Given the description of an element on the screen output the (x, y) to click on. 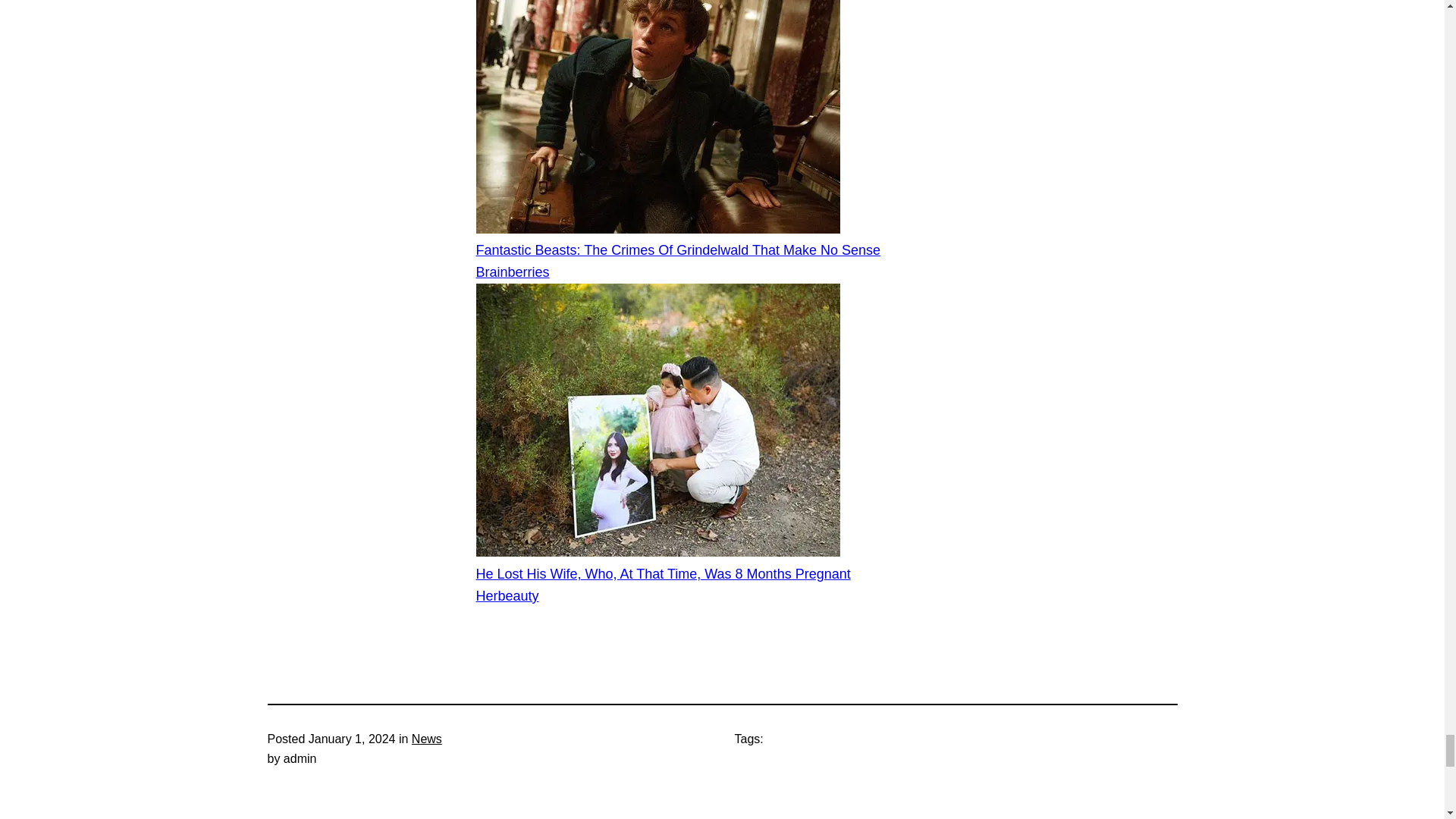
News (427, 738)
